Given the description of an element on the screen output the (x, y) to click on. 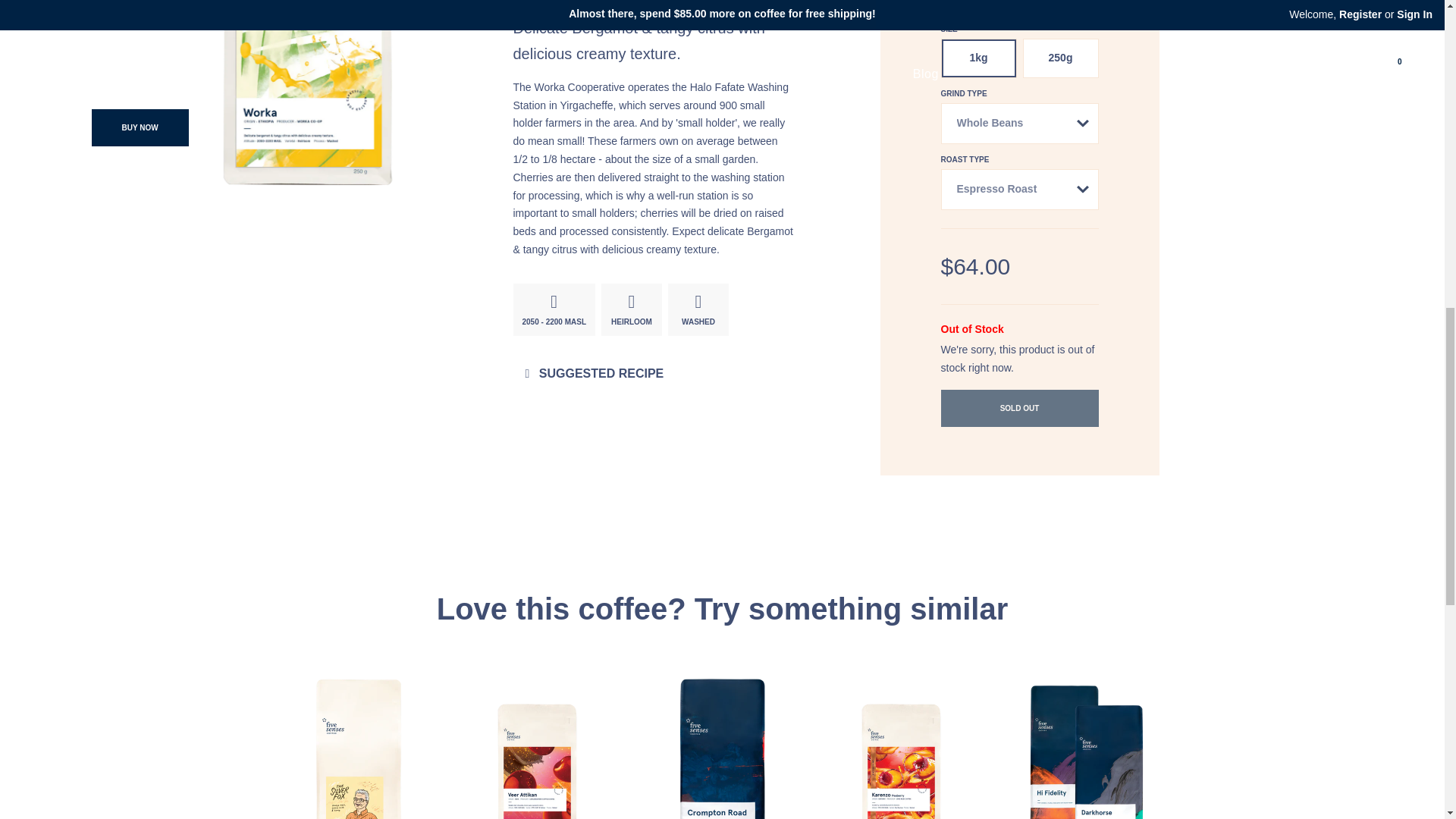
250g (1059, 57)
1kg (978, 57)
